Given the description of an element on the screen output the (x, y) to click on. 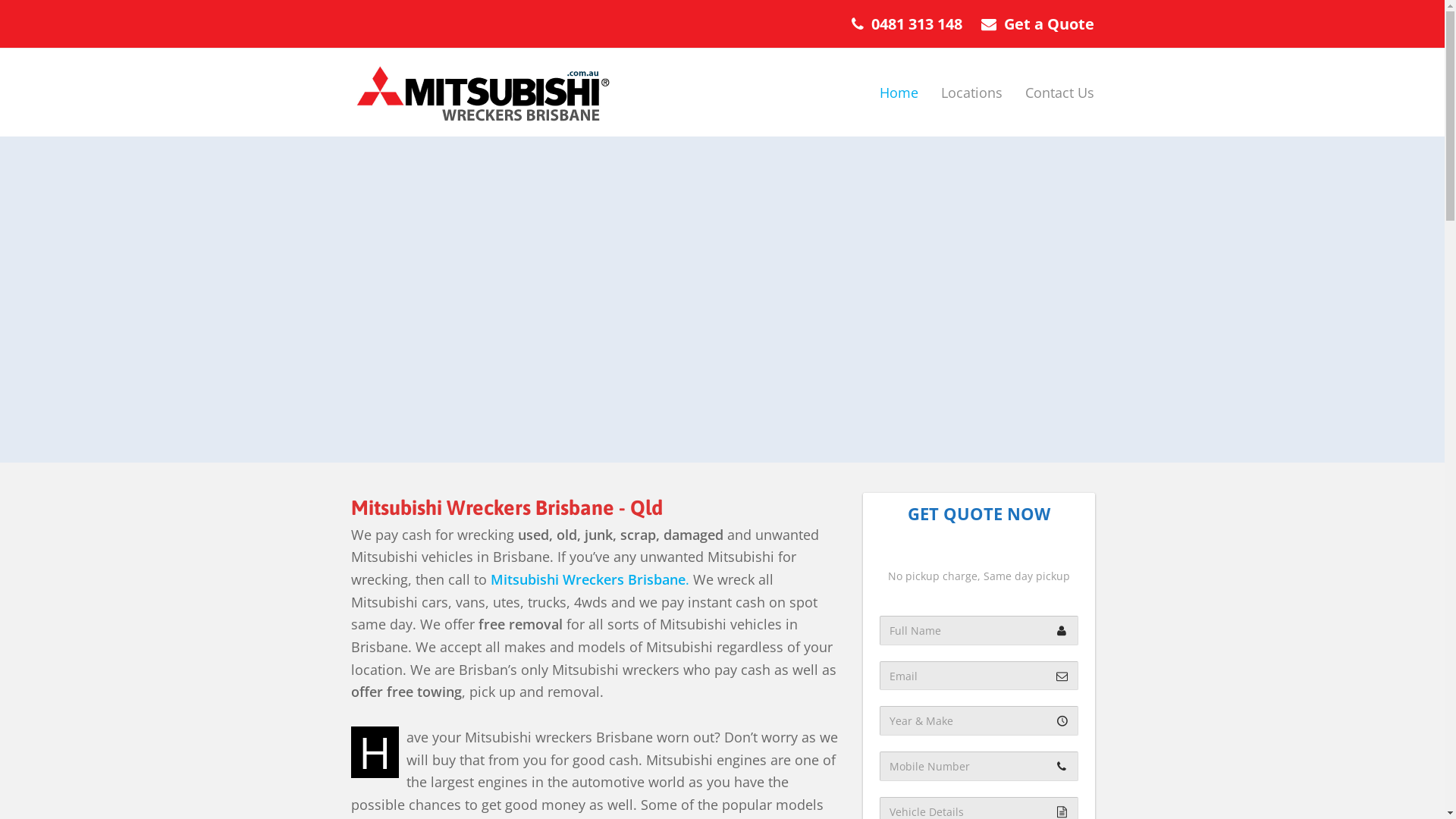
Mitsubishi Wreckers Brisbane. Element type: text (588, 579)
0481 313 148 Element type: text (915, 23)
Get a Quote Element type: text (1049, 23)
Mitsubishi Wreckers Brisbane Element type: hover (482, 90)
Locations Element type: text (971, 92)
Home Element type: text (897, 92)
Contact Us Element type: text (1058, 92)
